Given the description of an element on the screen output the (x, y) to click on. 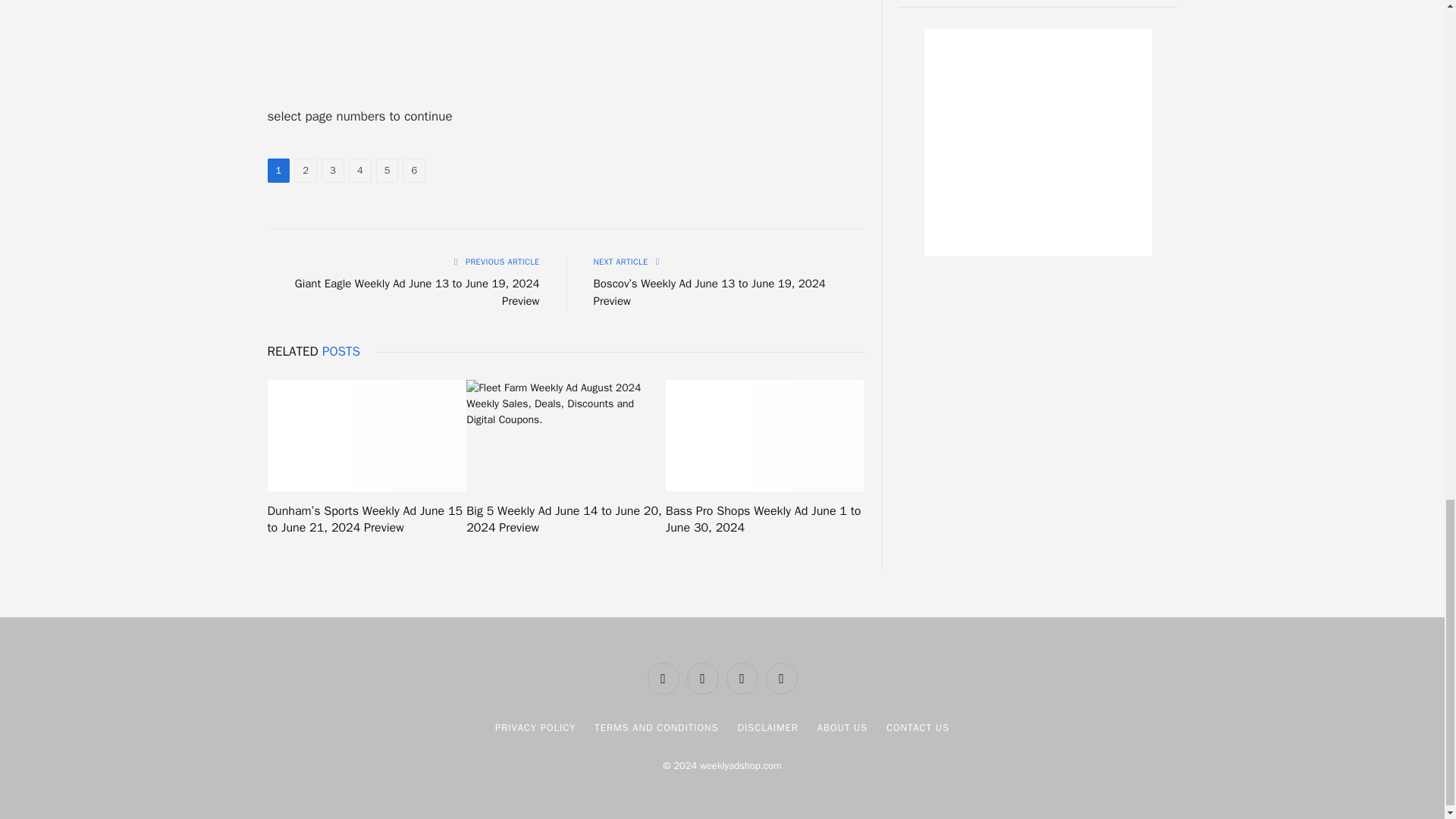
Big 5 Weekly Ad June 14 to June 20, 2024 Preview (565, 436)
Bass Pro Shops Weekly Ad June 1 to June 30, 2024 (764, 436)
fleet farm weekly ad june 13 19 1 (565, 29)
